Given the description of an element on the screen output the (x, y) to click on. 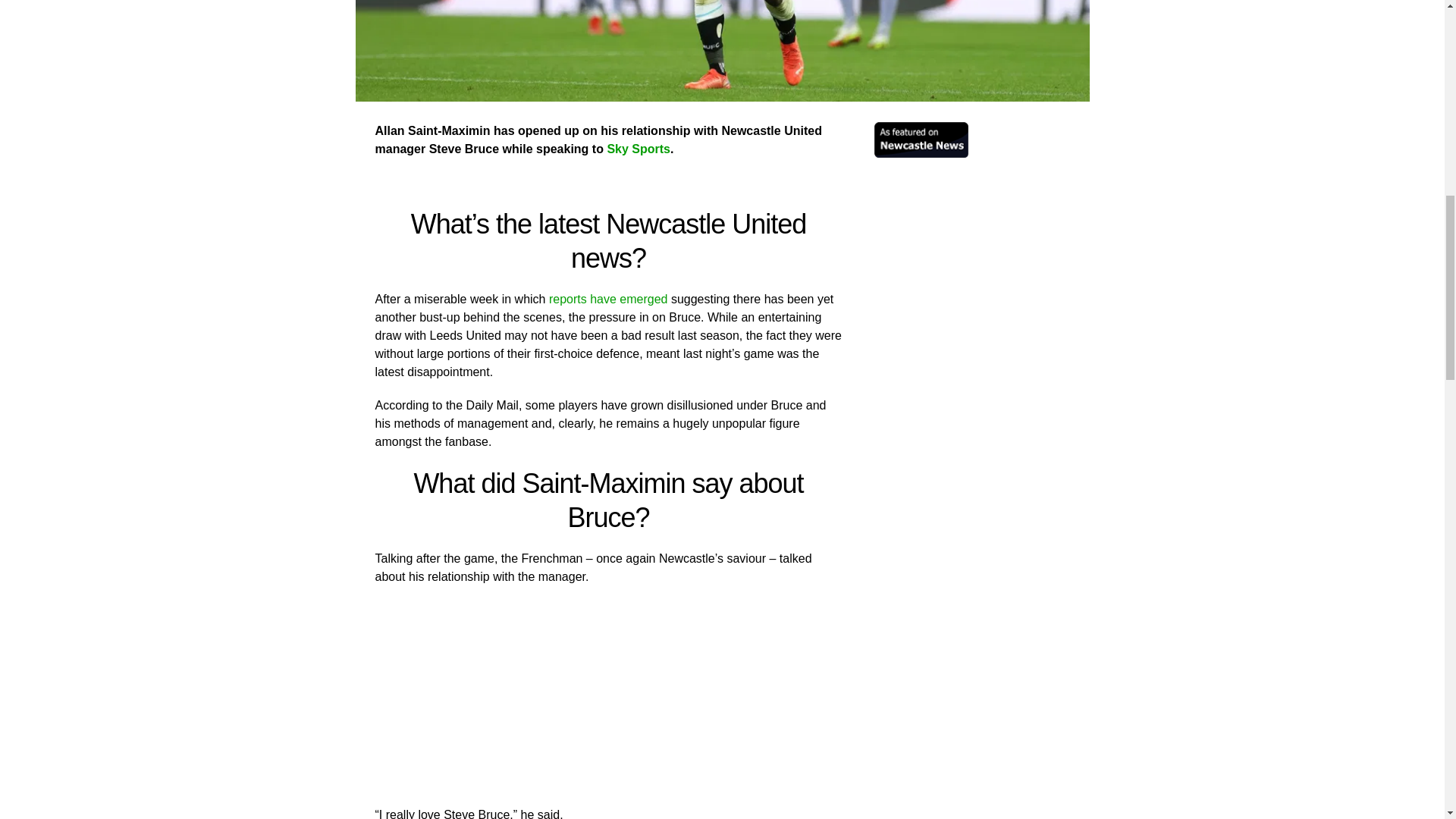
Sky Sports (638, 148)
Newcastle News (920, 153)
reports have emerged (608, 298)
